Given the description of an element on the screen output the (x, y) to click on. 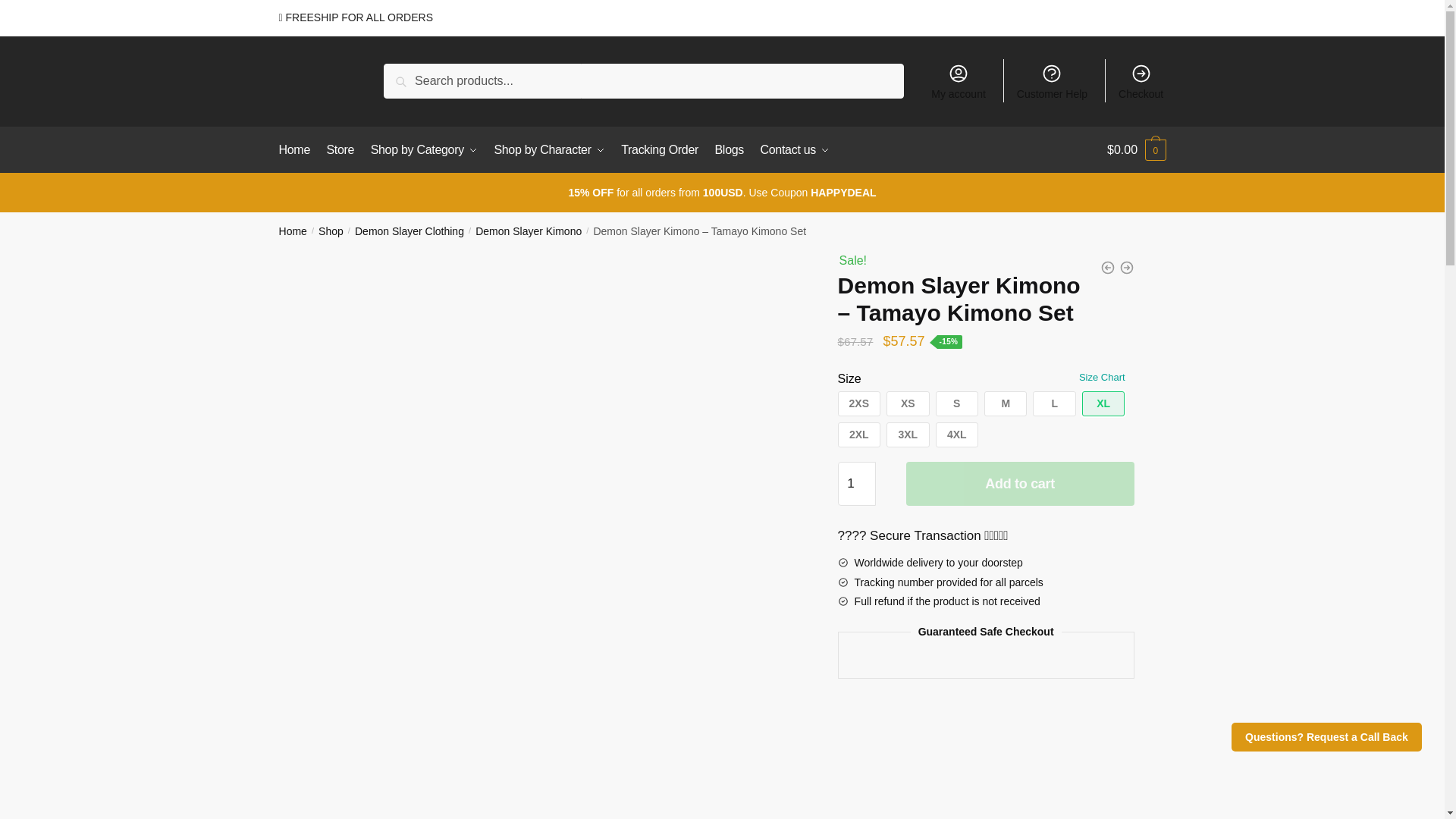
L (1053, 403)
XS (907, 403)
View your shopping cart (1136, 149)
S (957, 403)
2XL (859, 434)
M (1005, 403)
XL (1102, 403)
Search (421, 80)
Shop by Category (424, 149)
My account (957, 80)
